Given the description of an element on the screen output the (x, y) to click on. 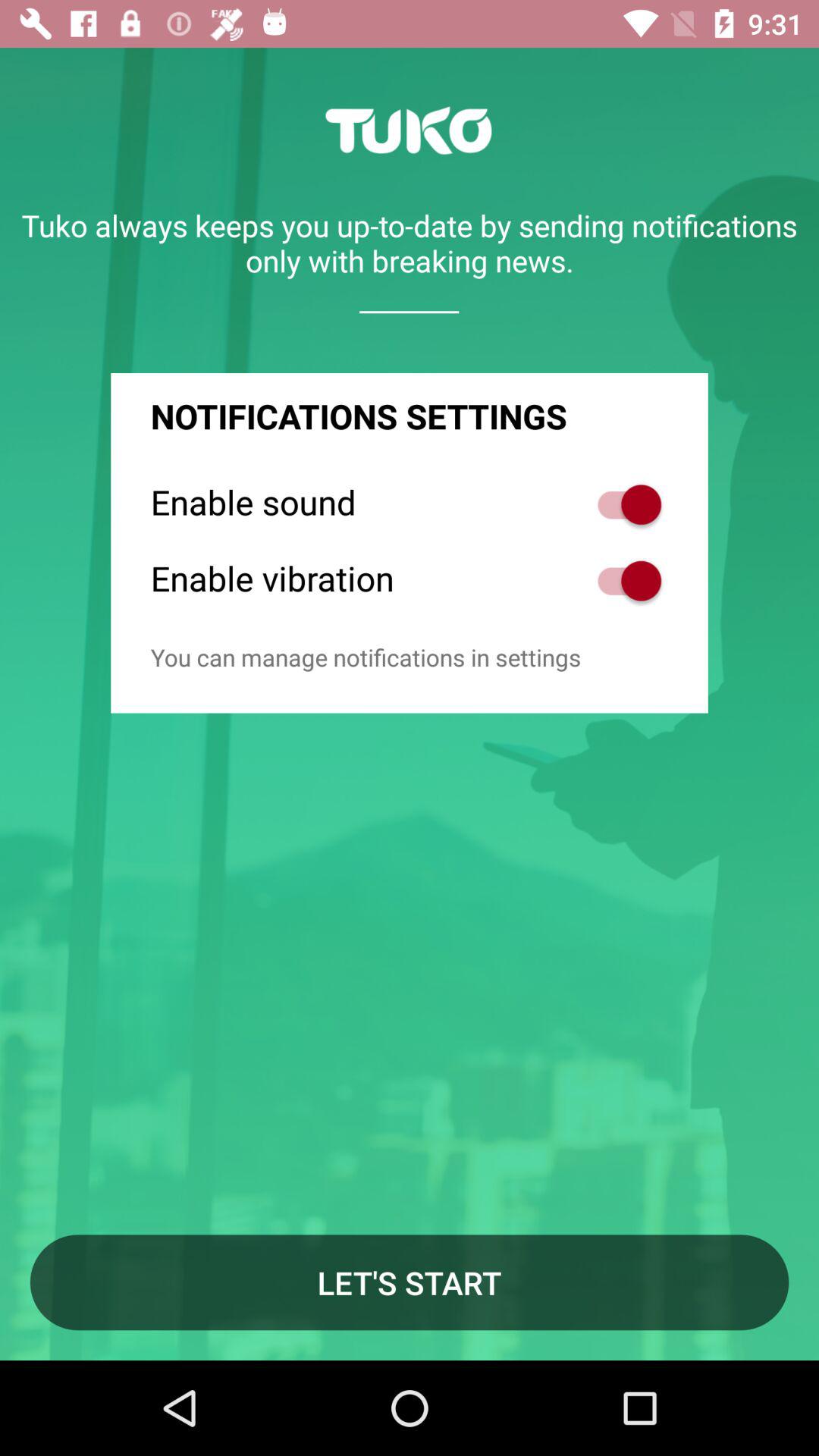
enable sound option (621, 504)
